Given the description of an element on the screen output the (x, y) to click on. 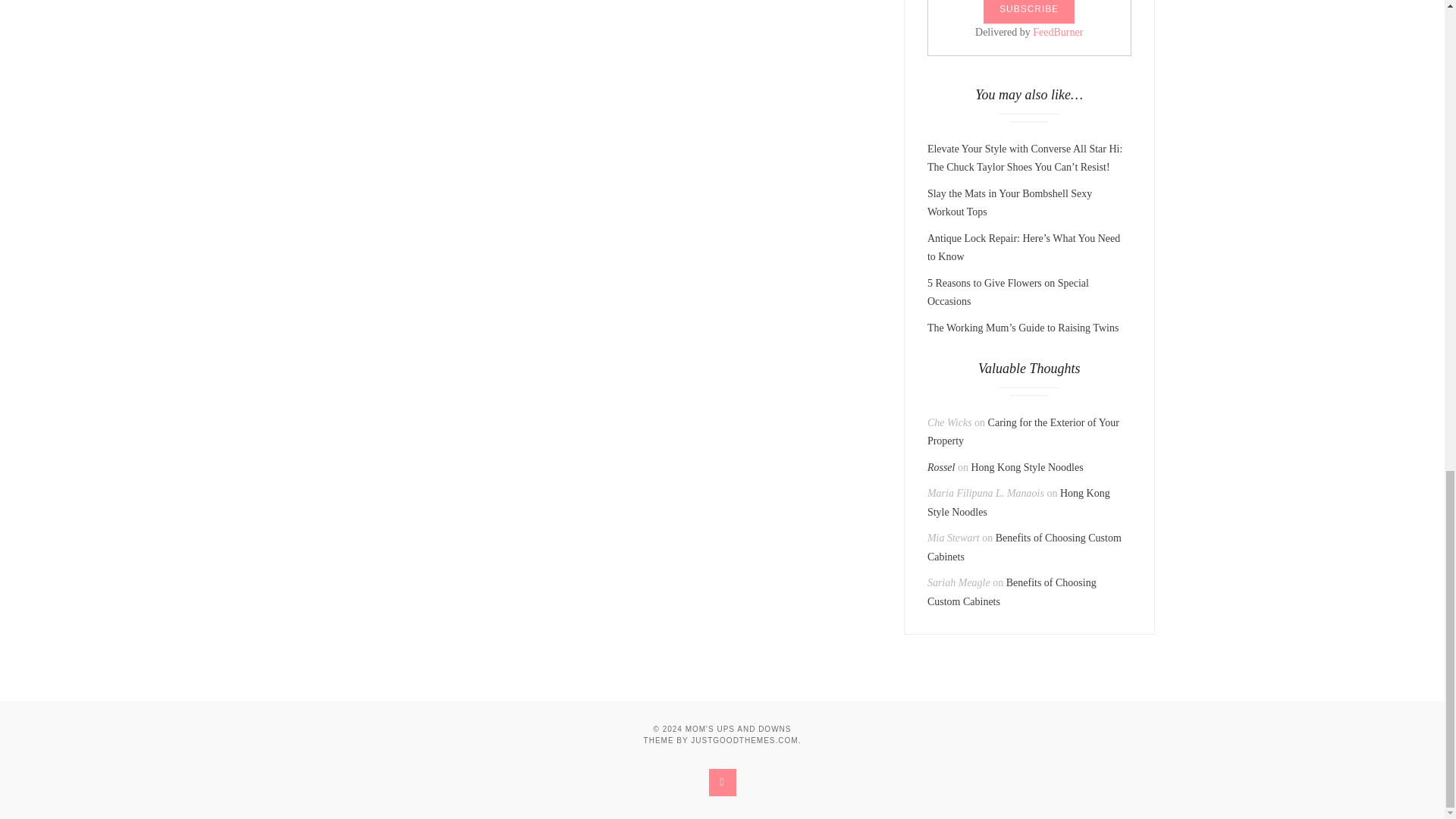
Slay the Mats in Your Bombshell Sexy Workout Tops (1009, 203)
Caring for the Exterior of Your Property (1023, 431)
Subscribe (1029, 11)
FeedBurner (1057, 31)
Rossel (941, 467)
5 Reasons to Give Flowers on Special Occasions (1008, 292)
Subscribe (1029, 11)
